Given the description of an element on the screen output the (x, y) to click on. 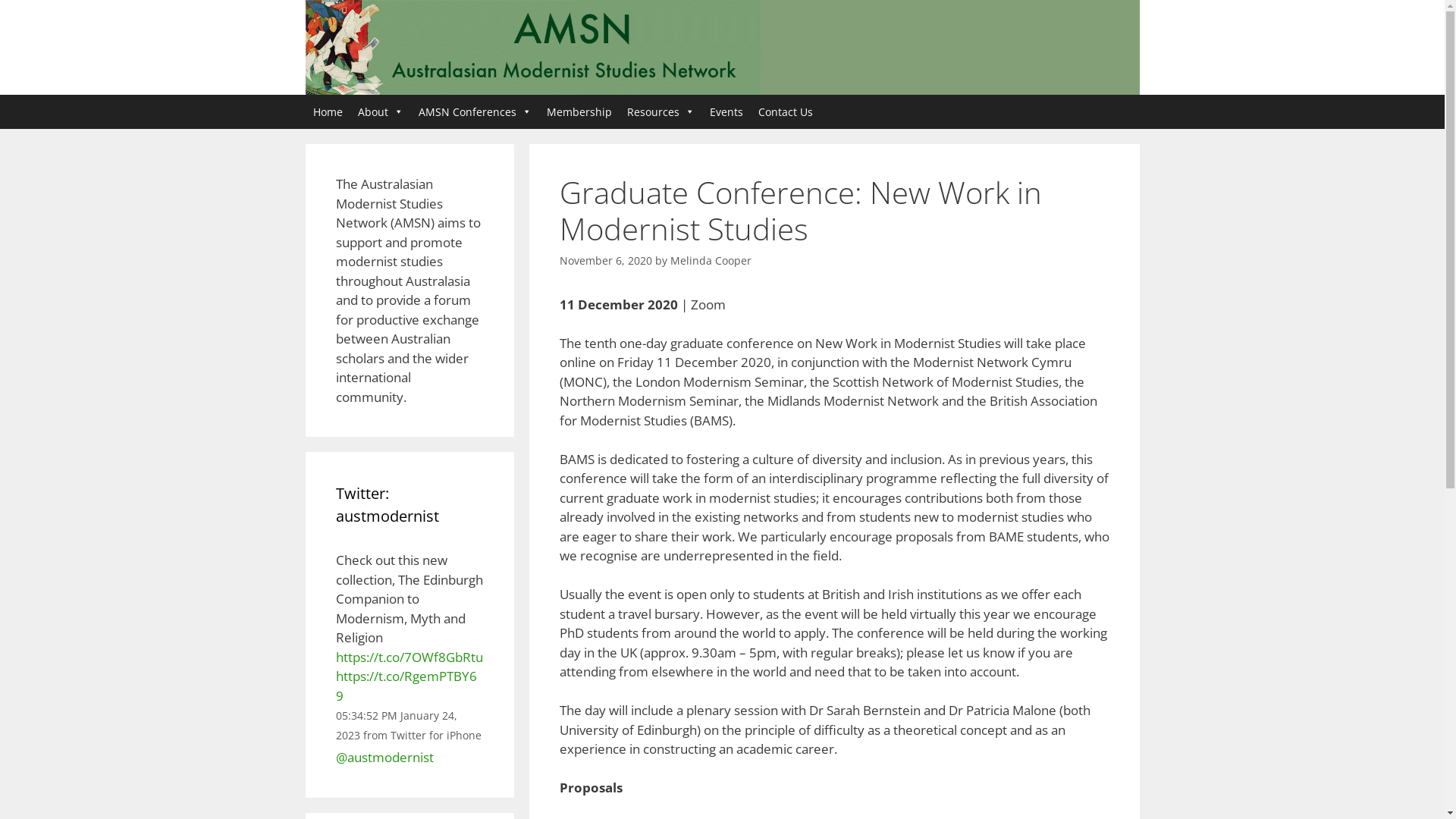
November 6, 2020 Element type: text (605, 260)
Membership Element type: text (578, 111)
Twitter for iPhone Element type: text (434, 735)
https://t.co/7OWf8GbRtu Element type: text (408, 656)
Home Element type: text (326, 111)
@austmodernist Element type: text (384, 756)
Contact Us Element type: text (785, 111)
Australasian Modernist Studies Network Element type: hover (531, 45)
05:34:52 PM January 24, 2023 Element type: text (395, 725)
About Element type: text (380, 111)
AMSN Conferences Element type: text (475, 111)
Events Element type: text (726, 111)
Melinda Cooper Element type: text (710, 260)
Resources Element type: text (659, 111)
Australasian Modernist Studies Network Element type: hover (531, 47)
https://t.co/RgemPTBY69 Element type: text (405, 685)
